Given the description of an element on the screen output the (x, y) to click on. 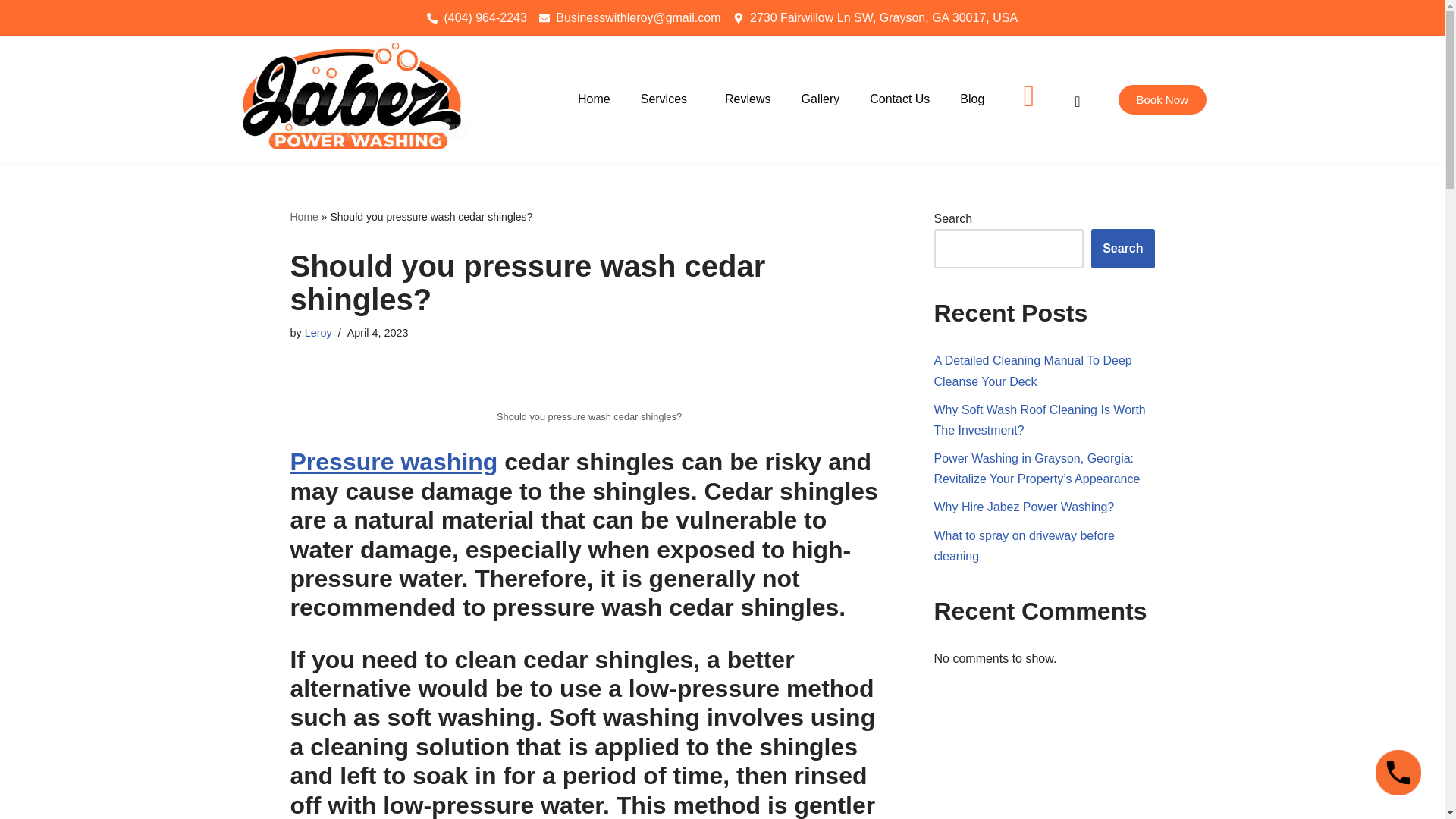
Book Now (1162, 99)
Home (593, 99)
Leroy (317, 332)
Why Soft Wash Roof Cleaning Is Worth The Investment? (1039, 419)
Reviews (747, 99)
Home (303, 216)
A Detailed Cleaning Manual To Deep Cleanse Your Deck (1033, 370)
Pressure washing (393, 461)
Gallery (820, 99)
Posts by Leroy (317, 332)
